Given the description of an element on the screen output the (x, y) to click on. 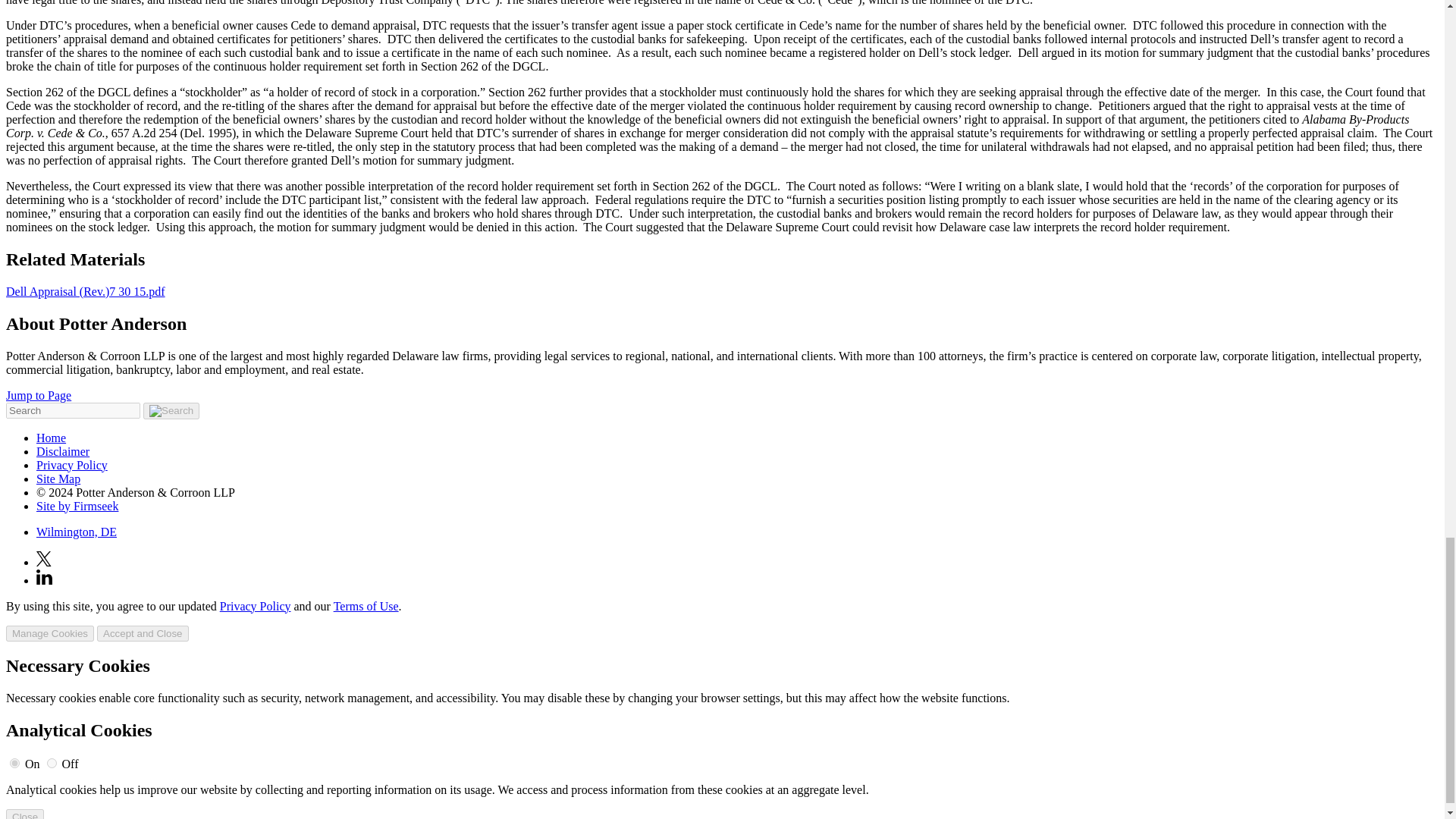
off (51, 763)
Linkedin (44, 579)
on (15, 763)
Linkedin (44, 575)
